Given the description of an element on the screen output the (x, y) to click on. 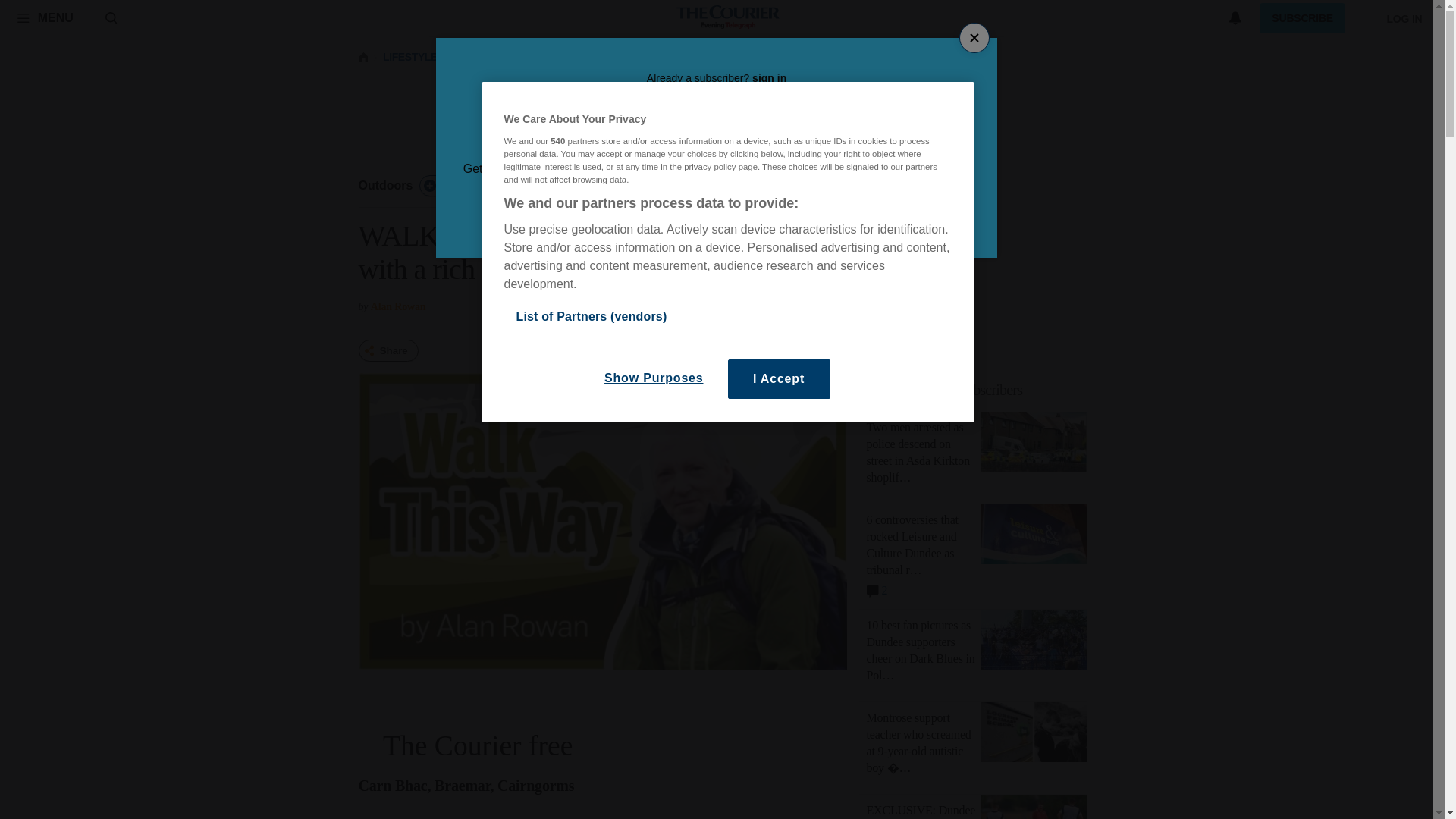
Exclusive to our subscribers (385, 185)
2 (981, 389)
Exclusive to our subscribers (876, 587)
MENU (944, 389)
The Courier (44, 17)
